Given the description of an element on the screen output the (x, y) to click on. 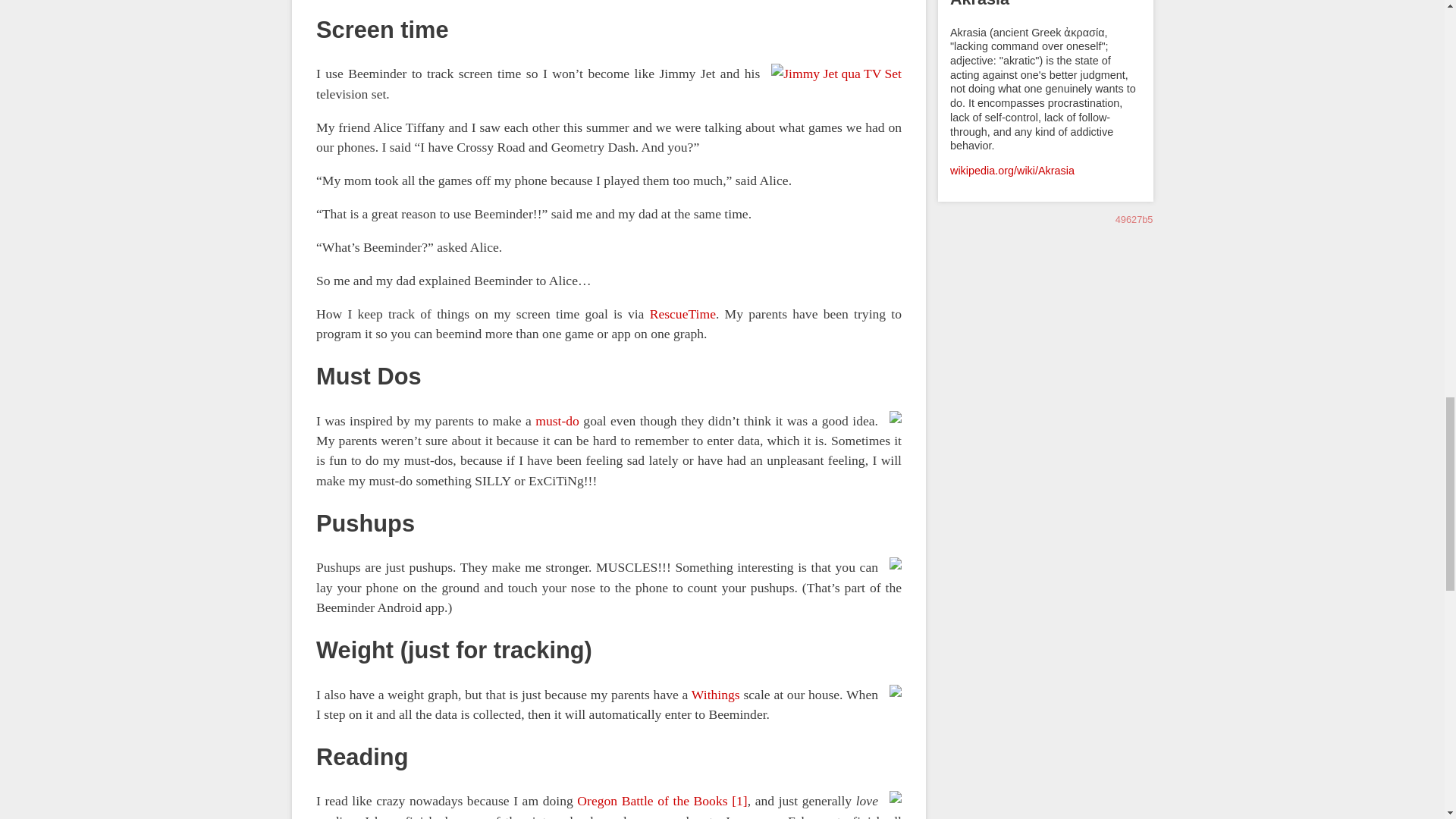
Apparently OBOB is run entirely by volunteers. Sweeet! (651, 801)
Oregon Battle of the Books (651, 801)
And antennae grew out of his hair. (830, 73)
RescueTime (681, 313)
must-do (557, 420)
The original post about Must Do task list beeminding (557, 420)
Withings (714, 694)
